Given the description of an element on the screen output the (x, y) to click on. 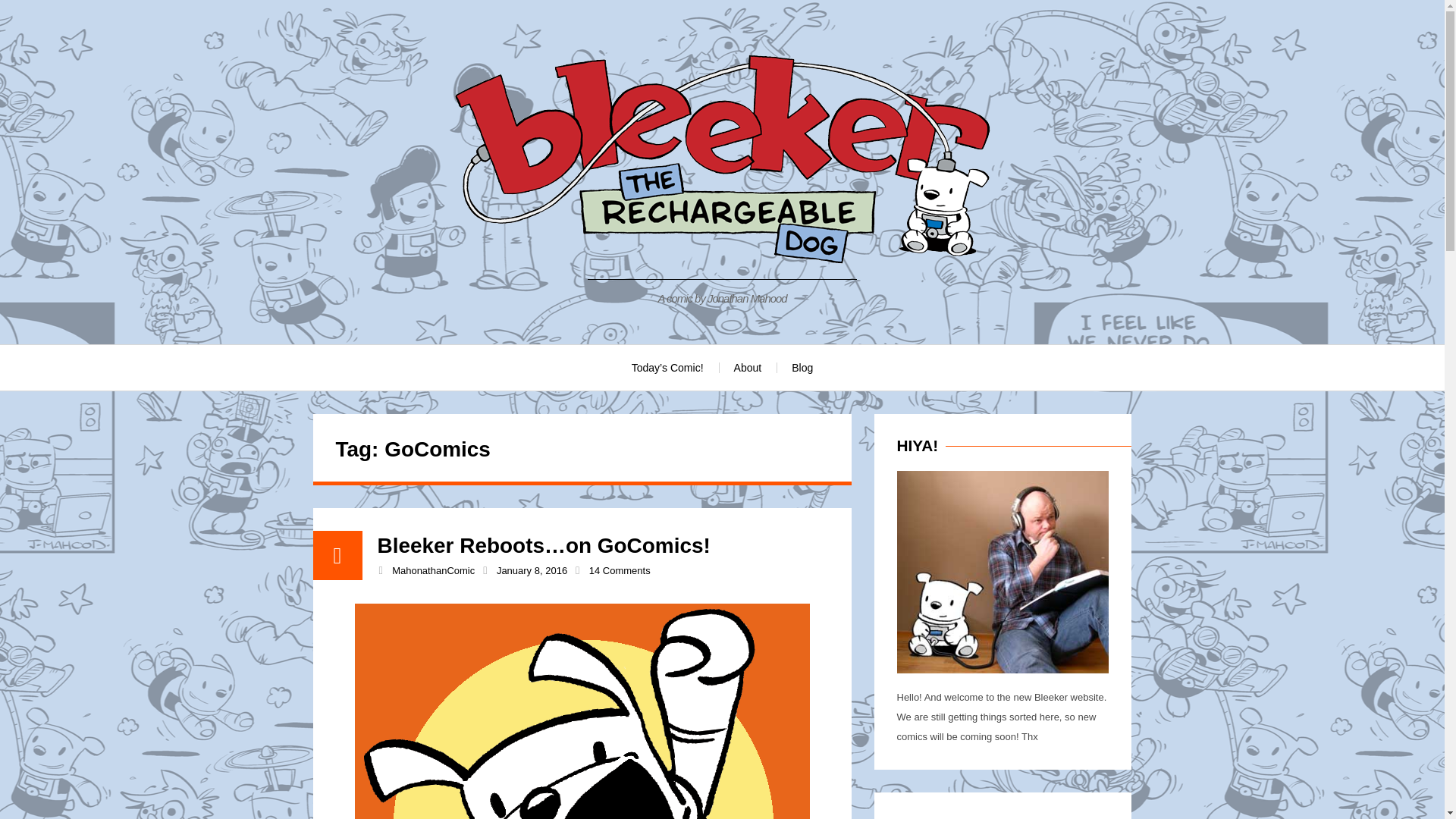
MahonathanComic (432, 570)
14 Comments (619, 570)
January 8, 2016 (531, 570)
Blog (802, 367)
About (748, 367)
